Given the description of an element on the screen output the (x, y) to click on. 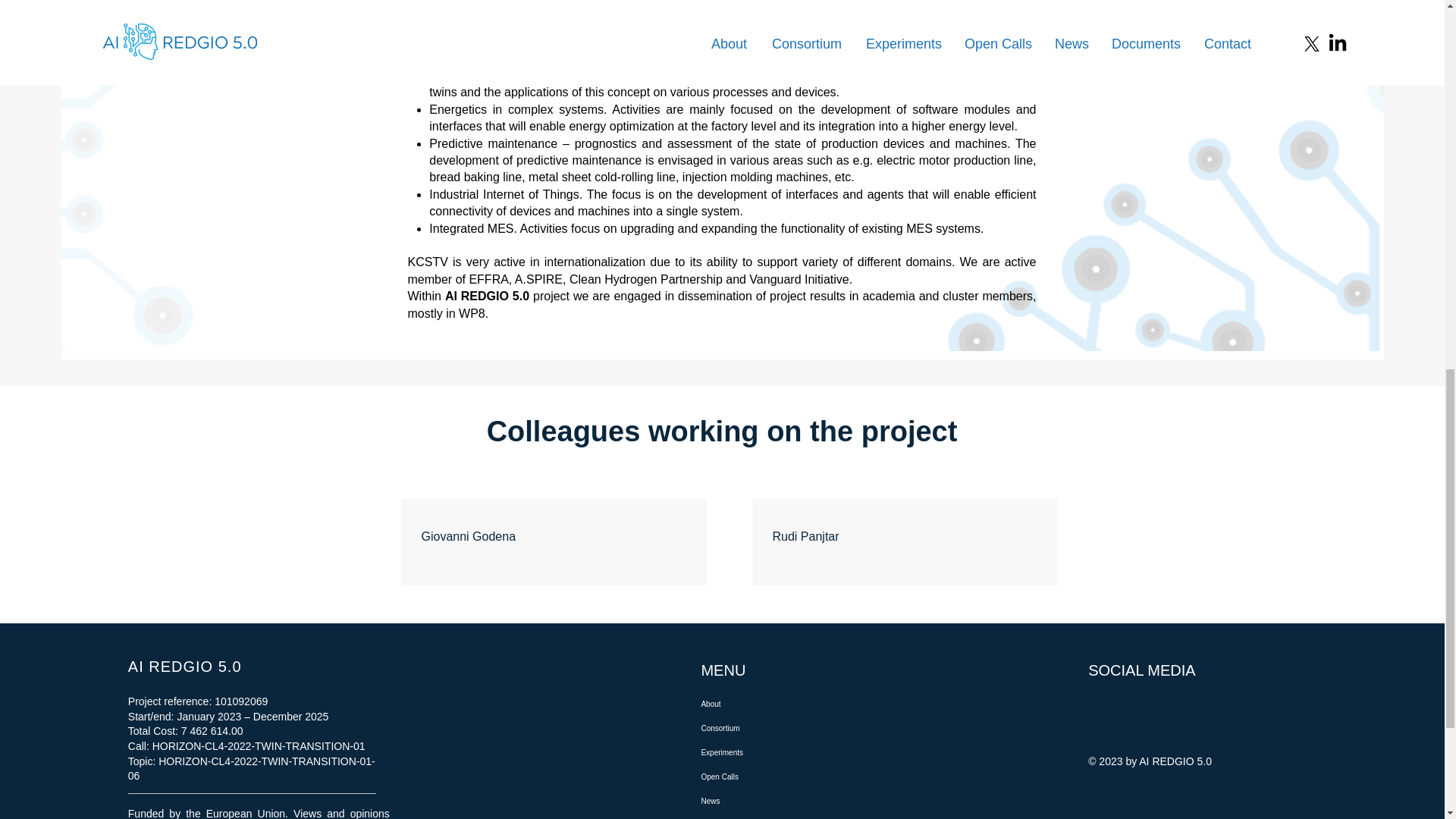
About (771, 704)
AI REDGIO 5.0 (184, 666)
Documents (771, 816)
Experiments (771, 752)
Consortium (771, 728)
